Given the description of an element on the screen output the (x, y) to click on. 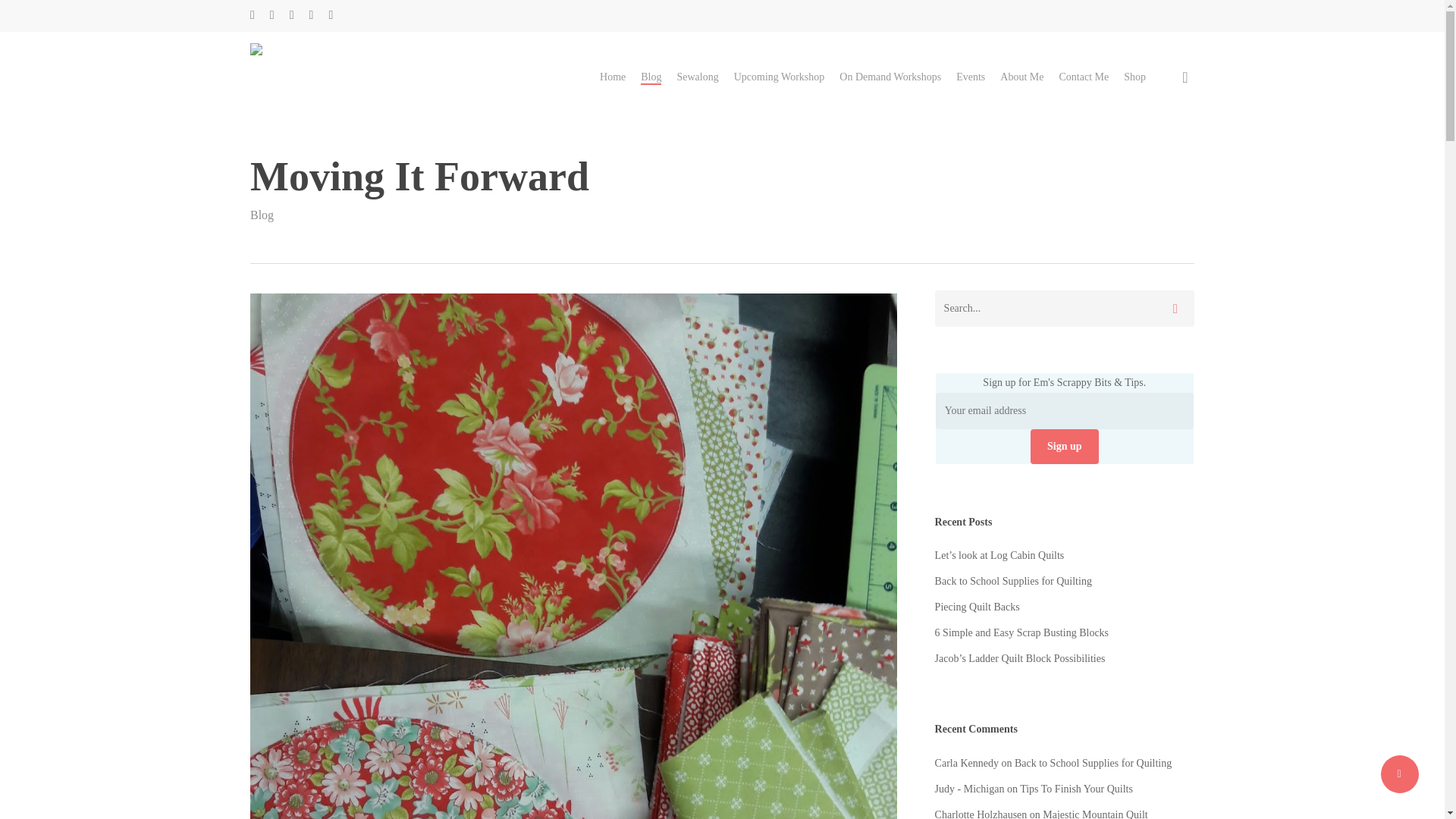
Back to School Supplies for Quilting (1093, 763)
6 Simple and Easy Scrap Busting Blocks (1063, 632)
Search for: (1063, 308)
Contact Me (1083, 77)
Upcoming Workshop (779, 77)
Shop (1134, 77)
About Me (1021, 77)
Blog (650, 77)
Majestic Mountain Quilt Possibilities (1041, 814)
Blog (261, 214)
